Given the description of an element on the screen output the (x, y) to click on. 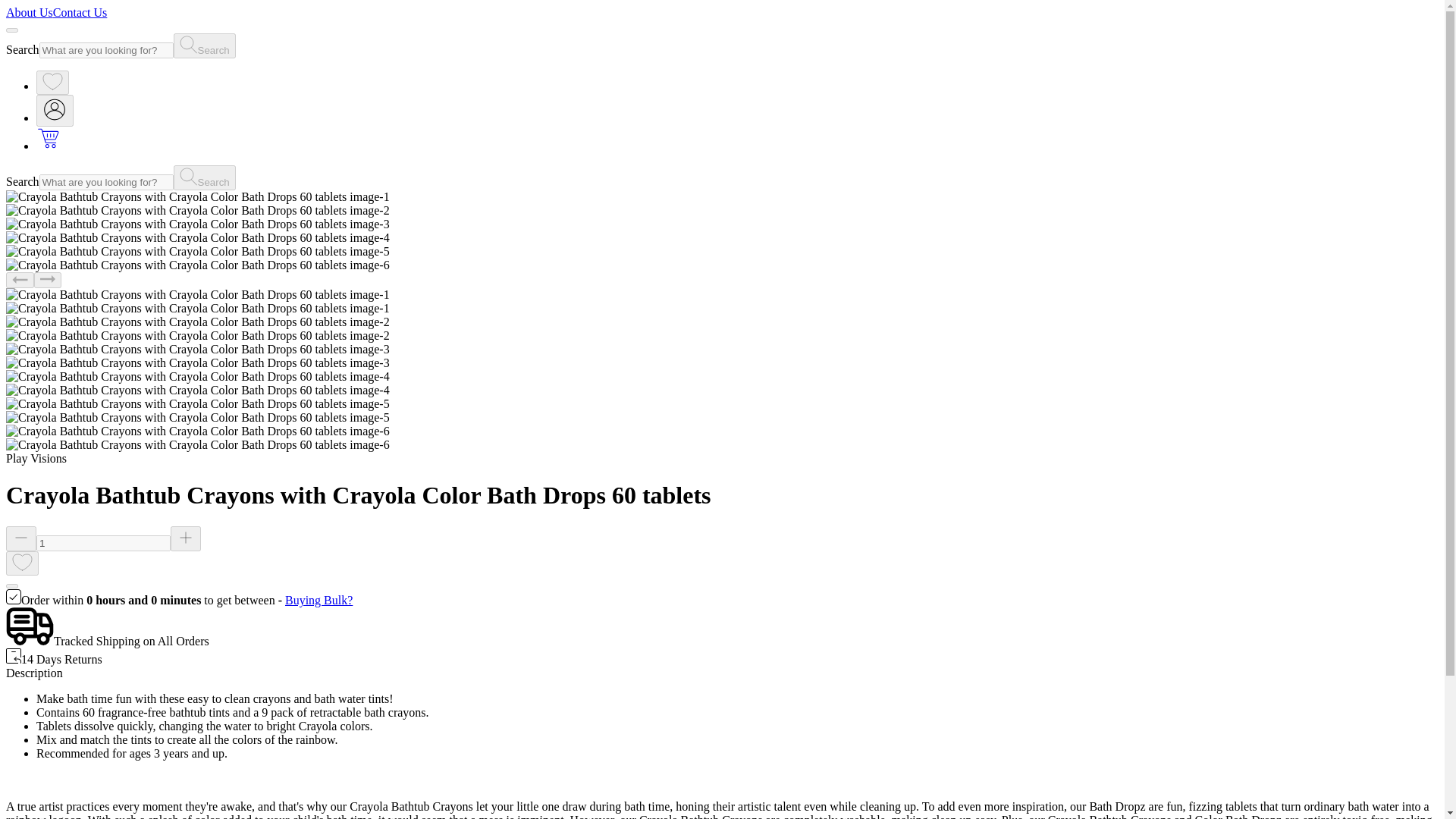
Contact Us (79, 11)
Return Product Arrow Icon (13, 655)
Search Icon (188, 176)
Bag Icon (48, 137)
Bag Icon (48, 145)
Delivery Truck Icon (29, 626)
Search IconSearch (204, 45)
Wishlist Heart Icon (22, 563)
User Avatar Icon (55, 110)
User Avatar Icon (54, 109)
